Given the description of an element on the screen output the (x, y) to click on. 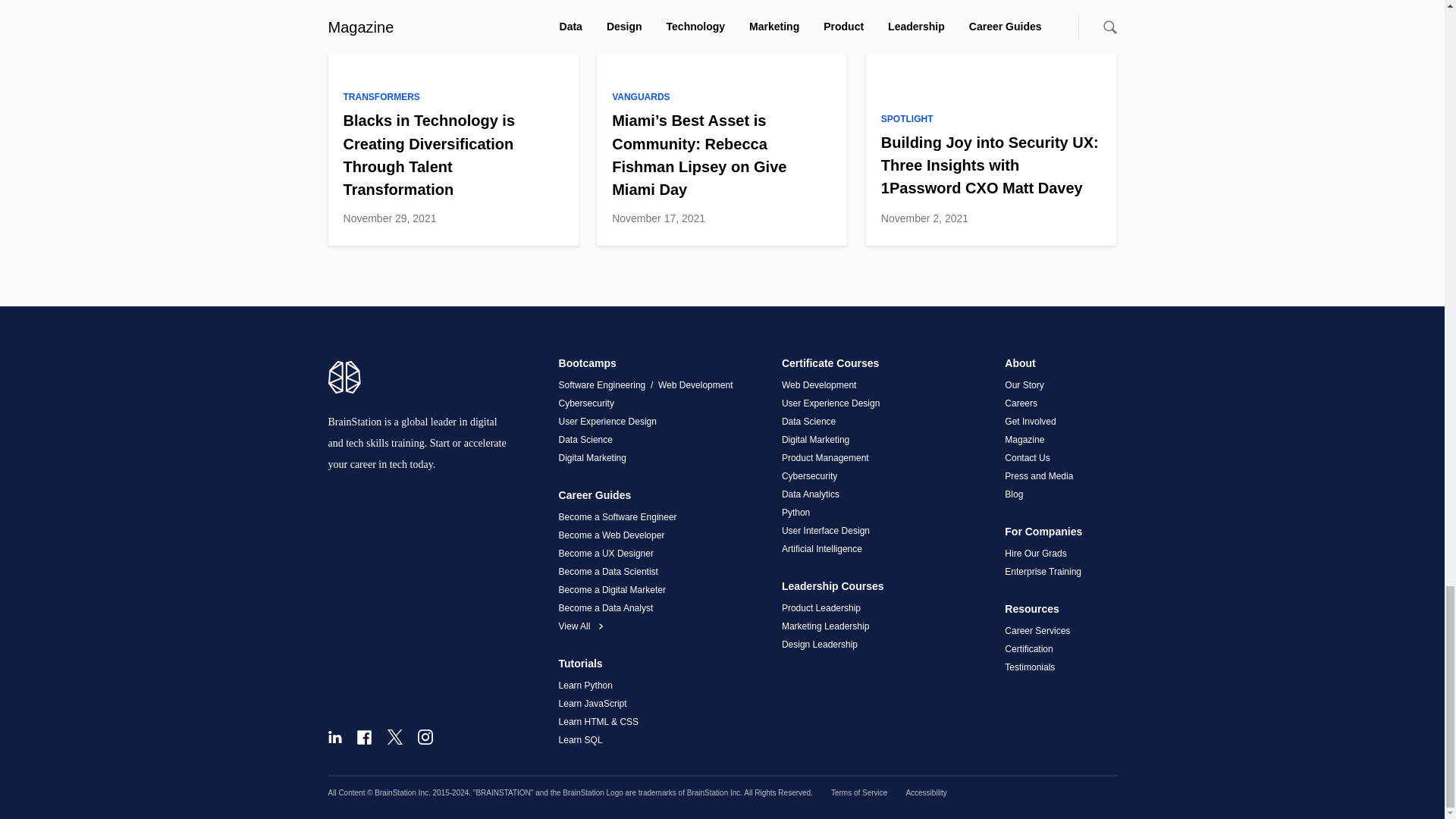
BrainStation Instagram (424, 736)
BrainStation Facebook (363, 737)
BrainStation X (394, 736)
BrainStation LinkedIn (333, 736)
